Given the description of an element on the screen output the (x, y) to click on. 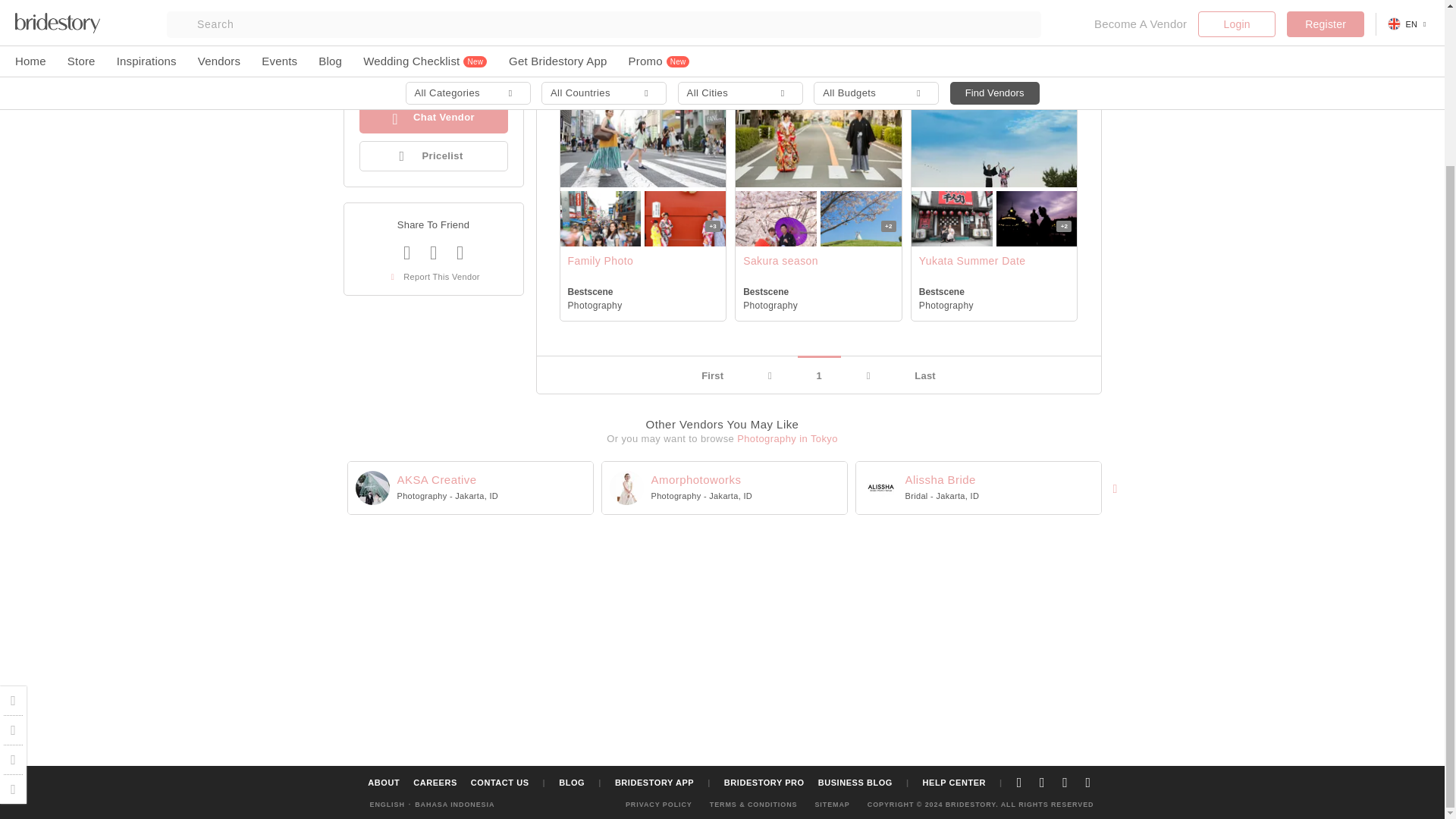
Yukata Summer Date by Bestscene (1036, 218)
Chat Vendor (433, 118)
Help Center (13, 533)
Submit A Wedding (13, 503)
Sakura season by Bestscene (861, 218)
Photography (384, 34)
Yukata Summer Date by Bestscene (994, 130)
Family Photo by Bestscene (599, 218)
Tokyo (368, 51)
Pricelist (433, 155)
